Given the description of an element on the screen output the (x, y) to click on. 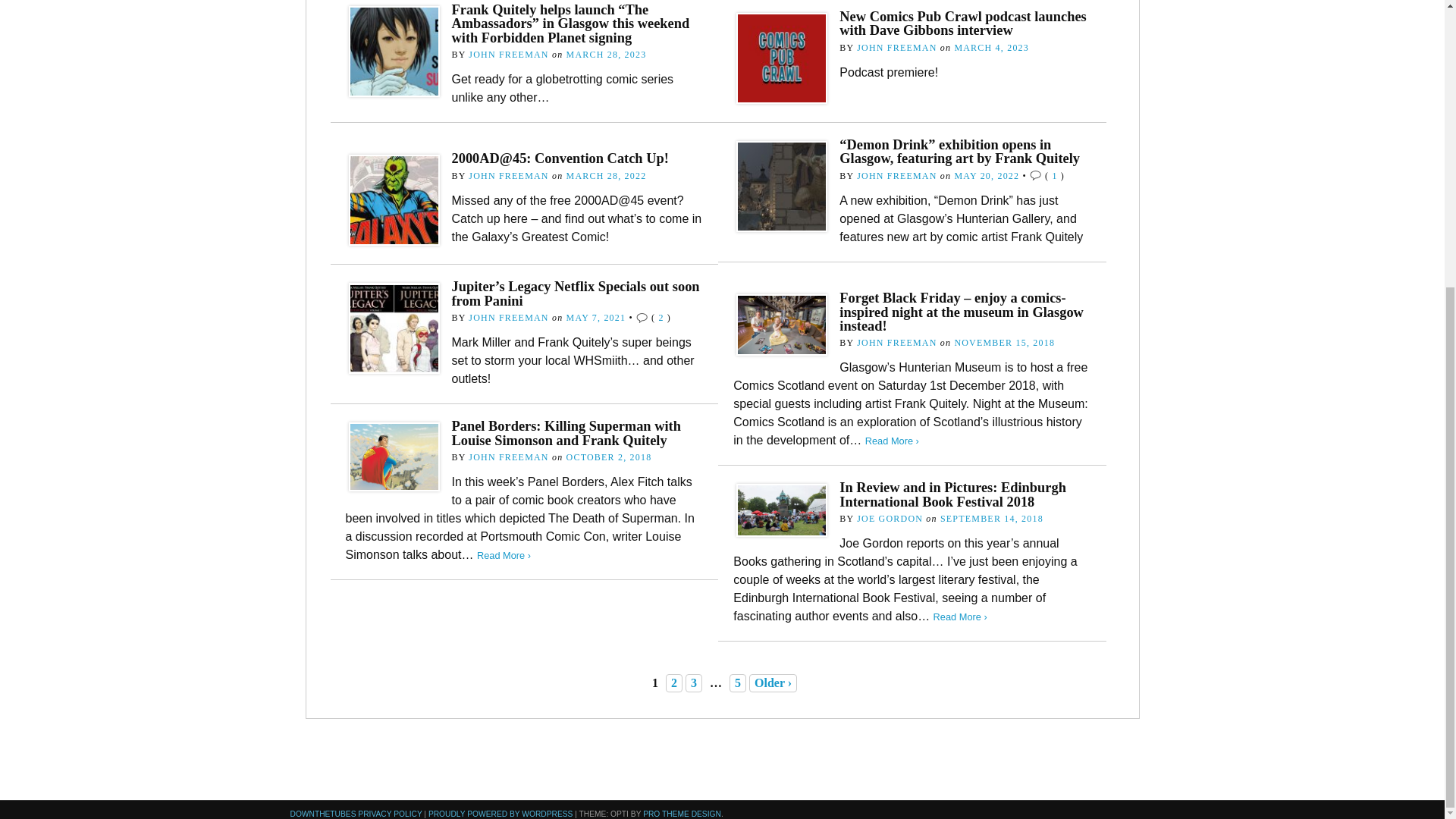
6:25 am (991, 47)
View all posts by John Freeman (896, 47)
8:07 am (606, 54)
View all posts by John Freeman (508, 54)
